Given the description of an element on the screen output the (x, y) to click on. 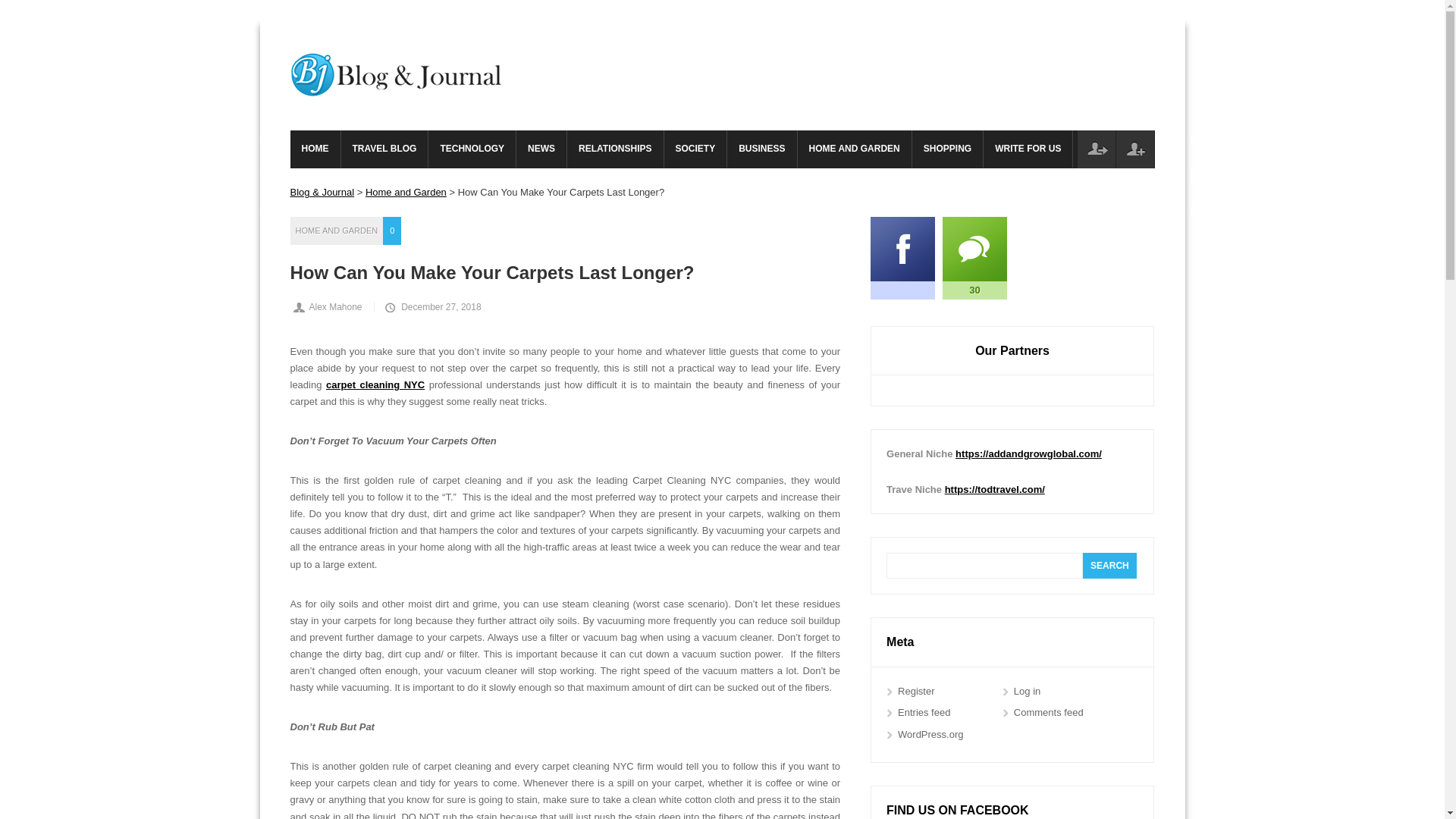
carpet cleaning NYC (375, 384)
WRITE FOR US (1027, 148)
10:32 am (430, 307)
HOME (314, 148)
Register (1135, 149)
How Can You Make Your Carpets Last Longer? (572, 271)
Go to the Home and Garden Category archives. (405, 192)
NEWS (541, 148)
SHOPPING (947, 148)
Search (1110, 565)
Permalink to How Can You Make Your Carpets Last Longer? (572, 271)
TECHNOLOGY (471, 148)
SOCIETY (694, 148)
Home and Garden (405, 192)
BUSINESS (761, 148)
